Given the description of an element on the screen output the (x, y) to click on. 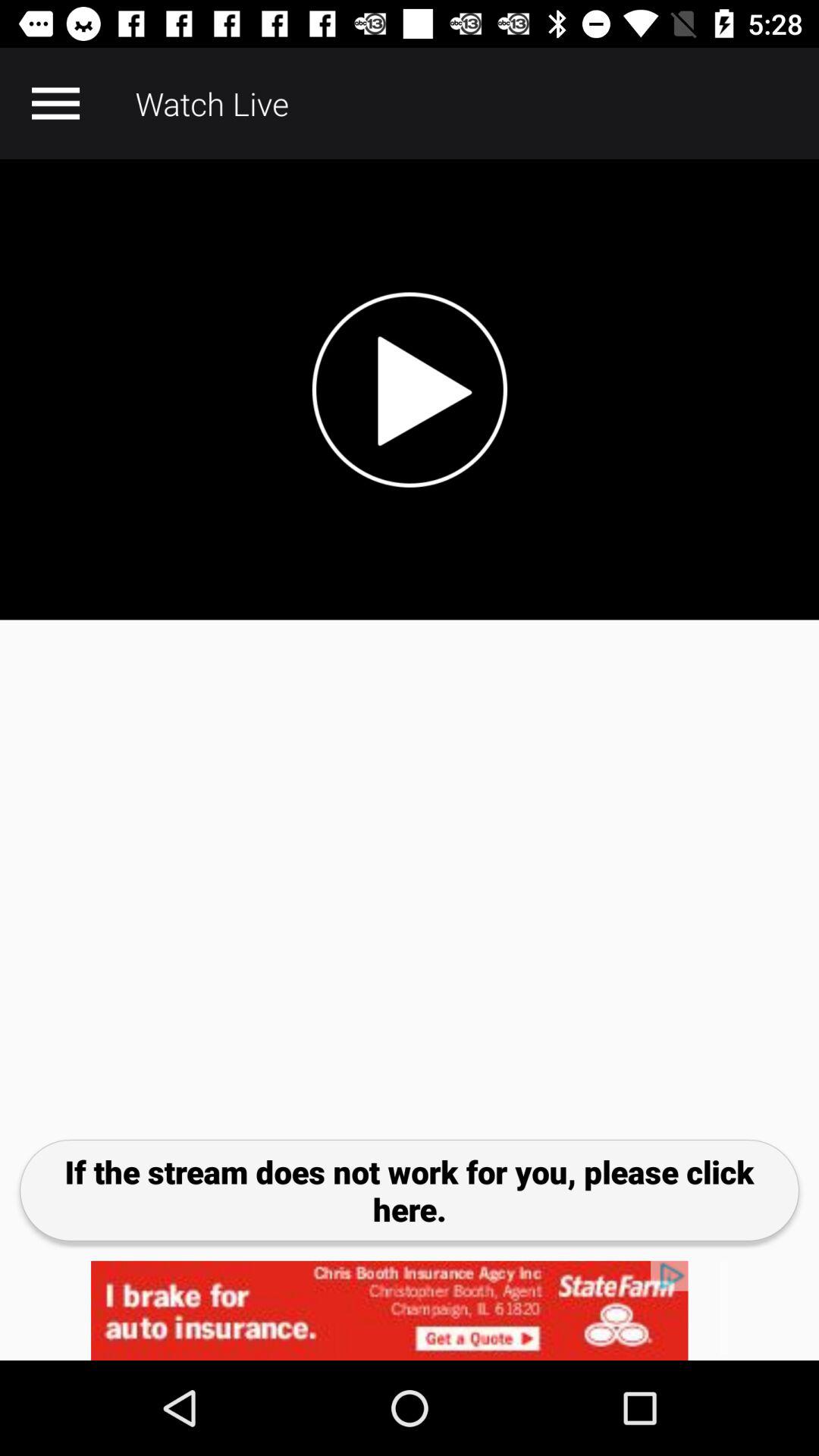
advertisement (409, 1310)
